Given the description of an element on the screen output the (x, y) to click on. 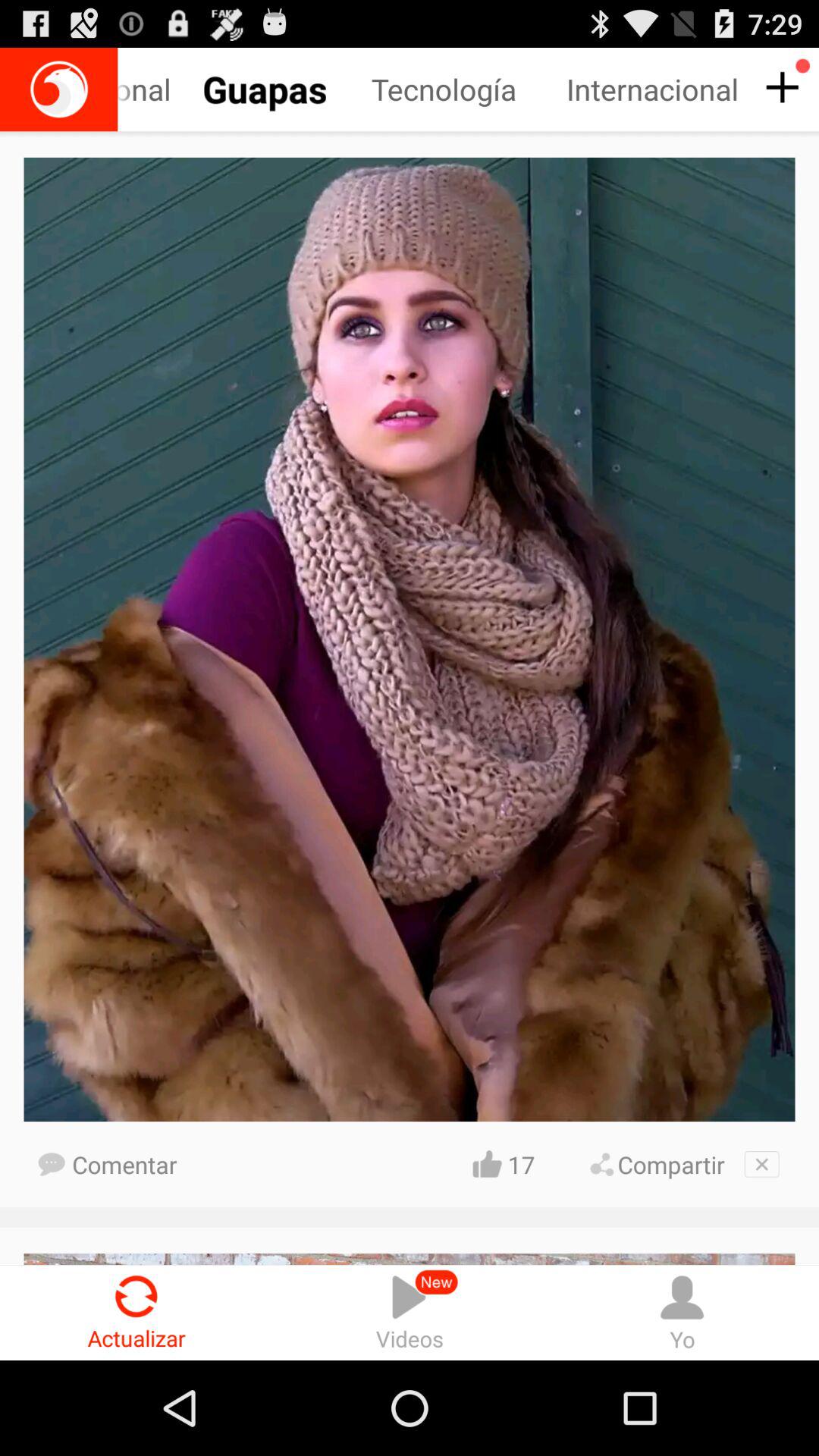
create post (779, 87)
